Given the description of an element on the screen output the (x, y) to click on. 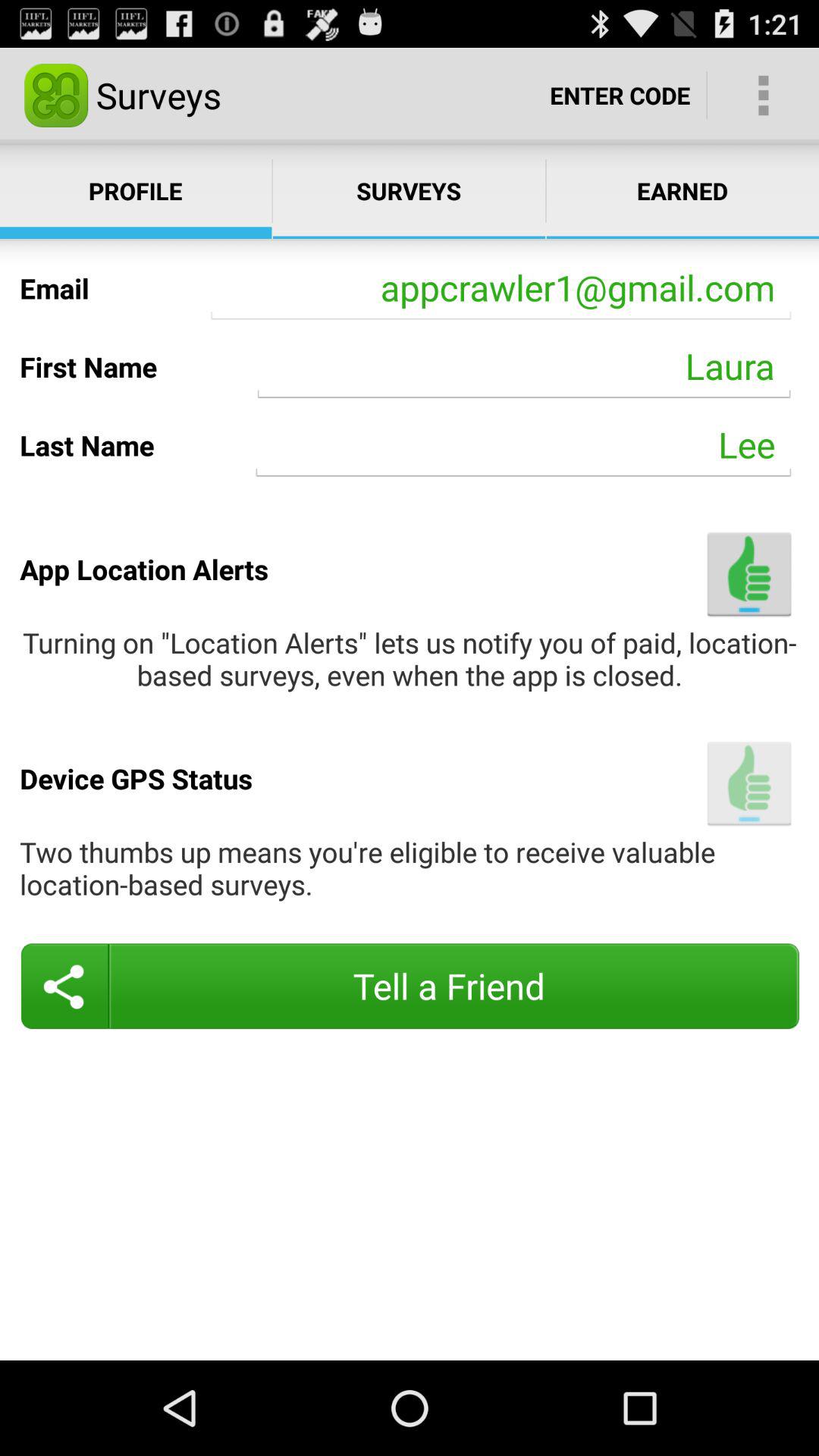
toggle location alerts (749, 573)
